Given the description of an element on the screen output the (x, y) to click on. 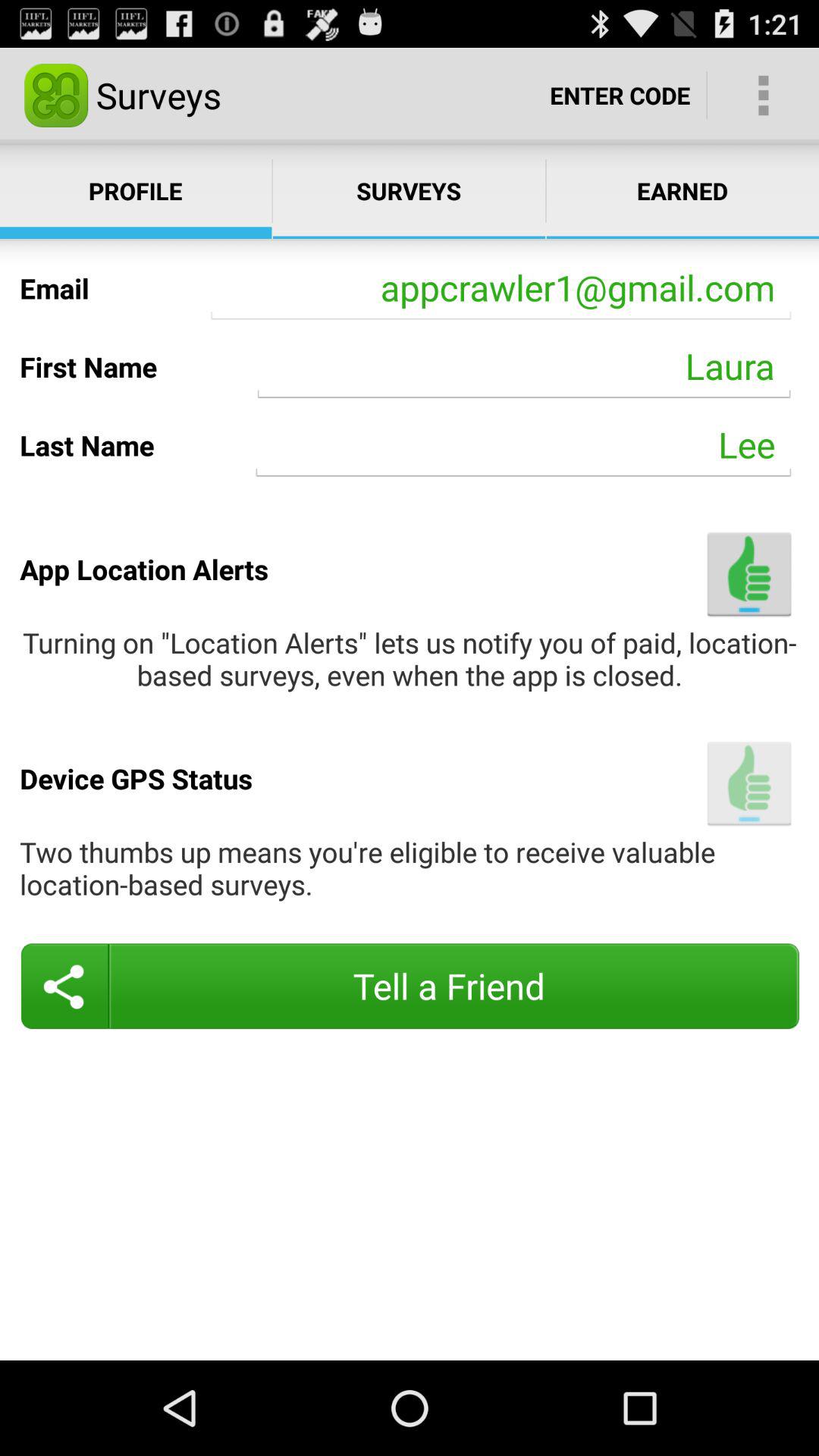
toggle location alerts (749, 573)
